Given the description of an element on the screen output the (x, y) to click on. 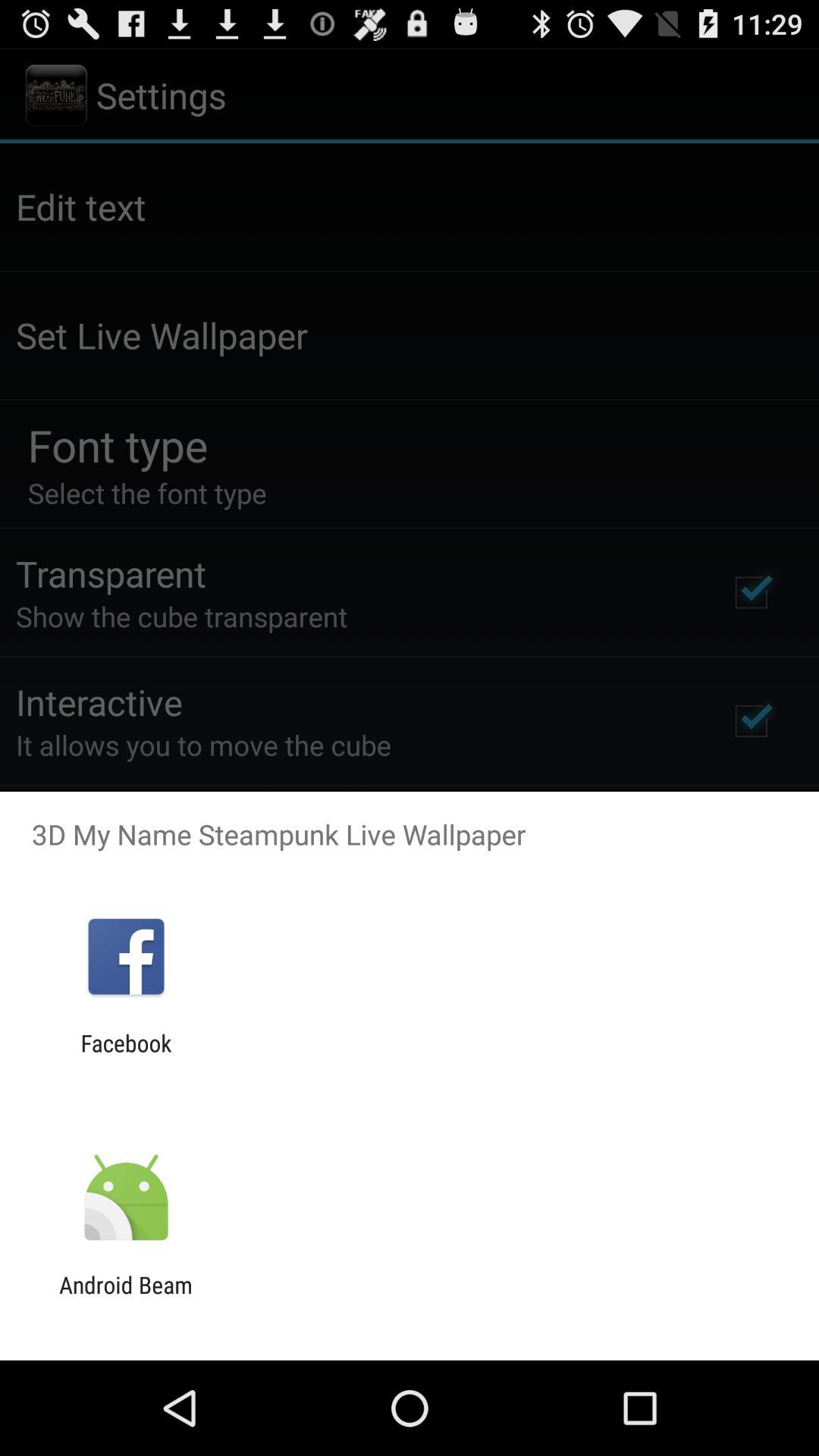
choose facebook icon (125, 1056)
